Given the description of an element on the screen output the (x, y) to click on. 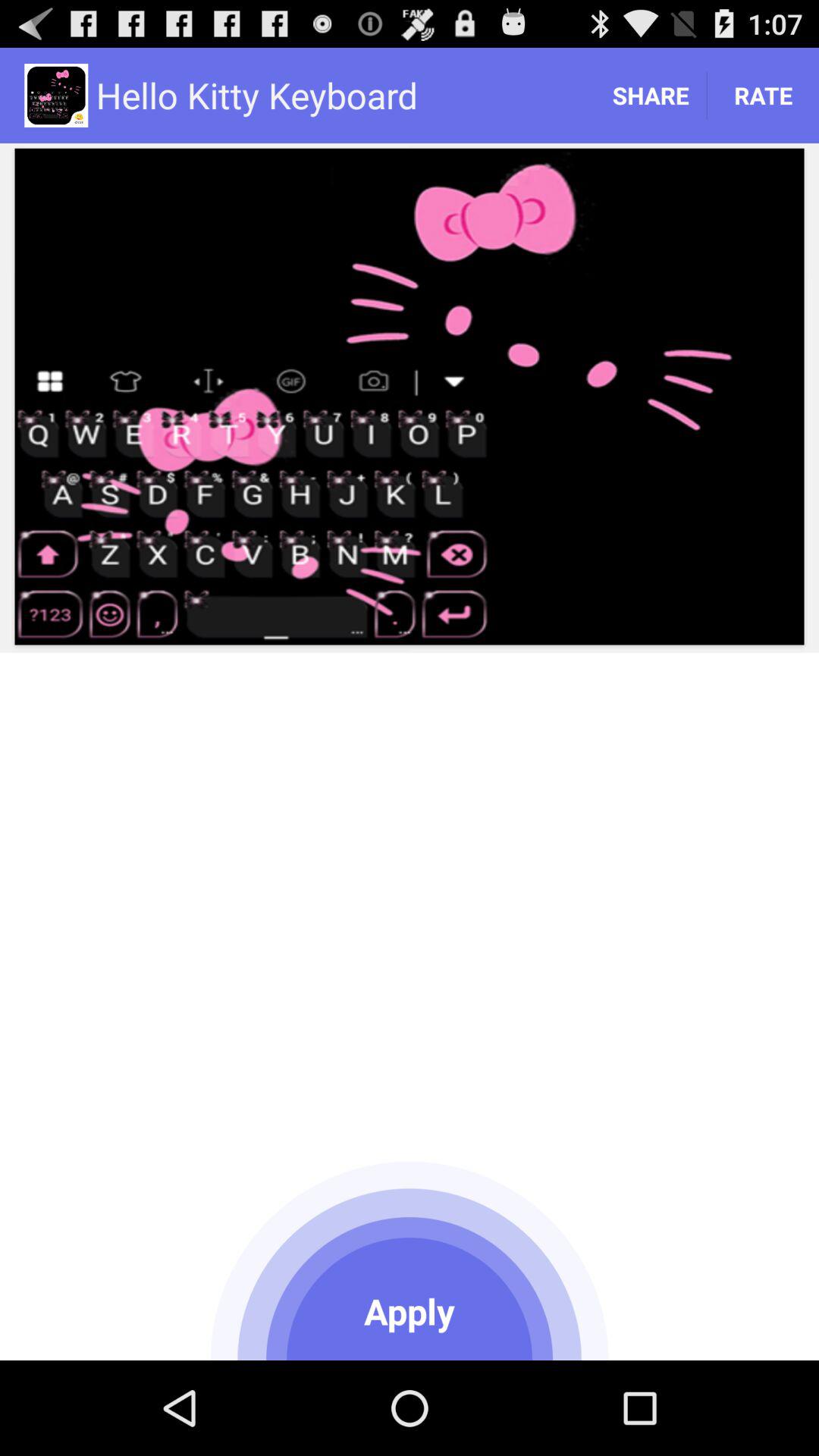
select icon next to the rate (650, 95)
